Given the description of an element on the screen output the (x, y) to click on. 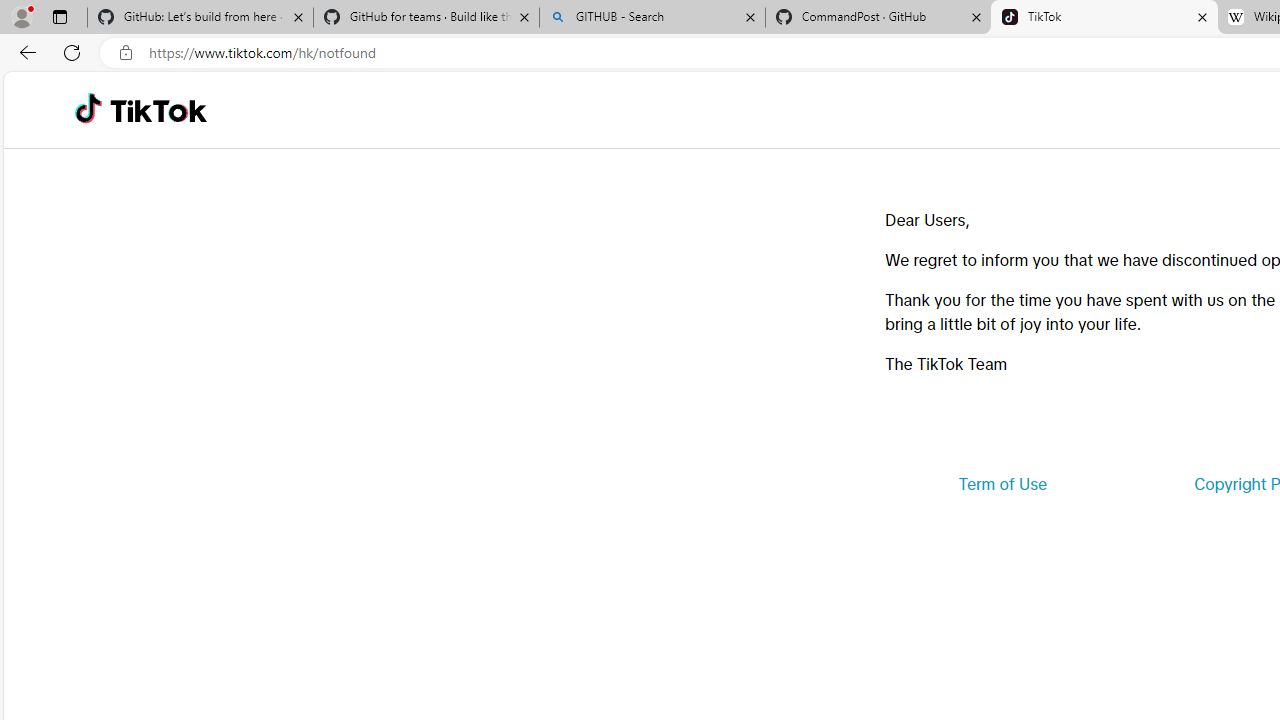
GITHUB - Search (652, 17)
Term of Use (1002, 484)
